Given the description of an element on the screen output the (x, y) to click on. 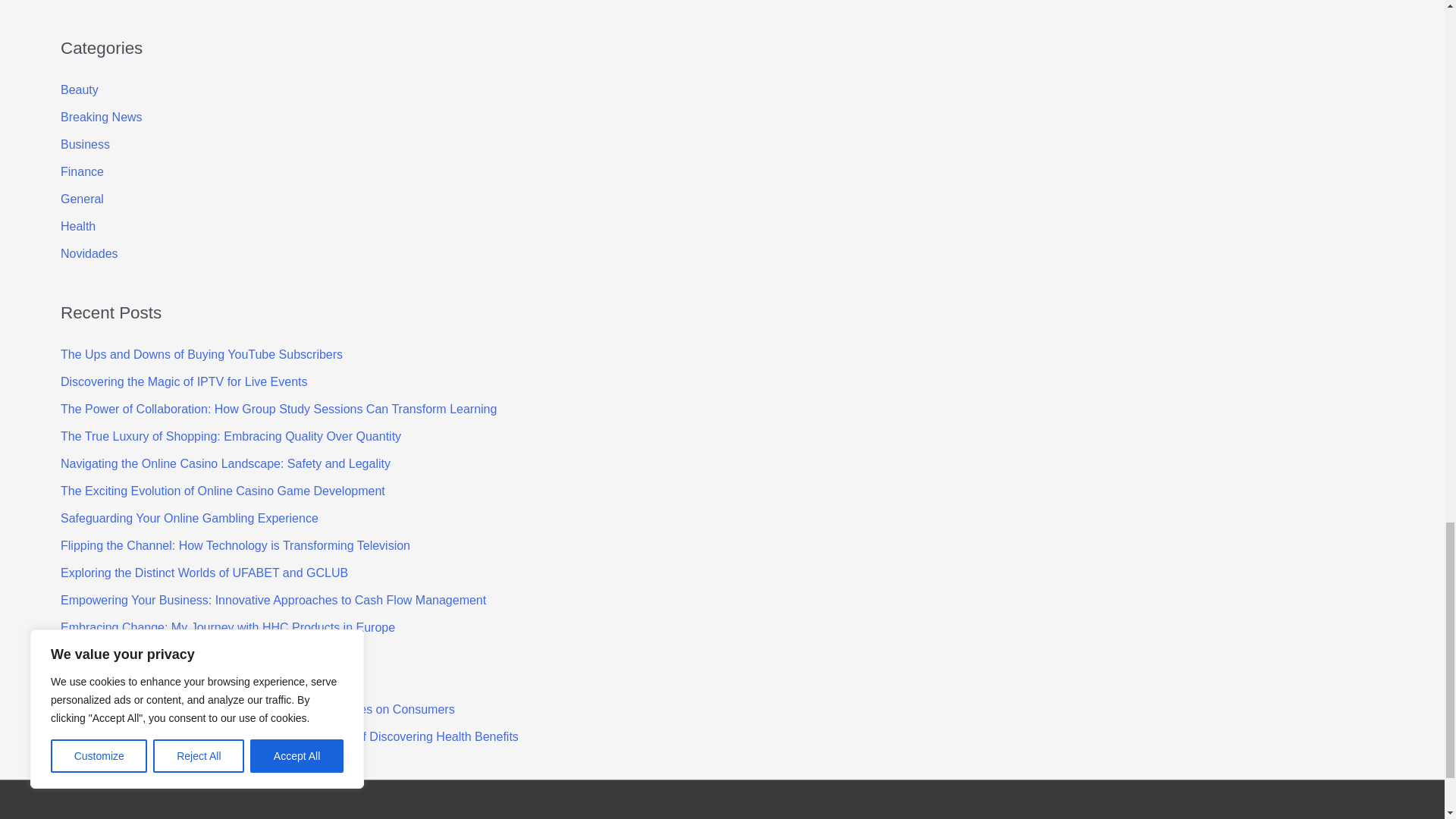
Finance (82, 171)
Beauty (80, 89)
General (82, 198)
The Ups and Downs of Buying YouTube Subscribers (201, 354)
Discovering the Magic of IPTV for Live Events (184, 381)
Business (85, 144)
Breaking News (101, 116)
Health (78, 226)
Novidades (89, 253)
